Given the description of an element on the screen output the (x, y) to click on. 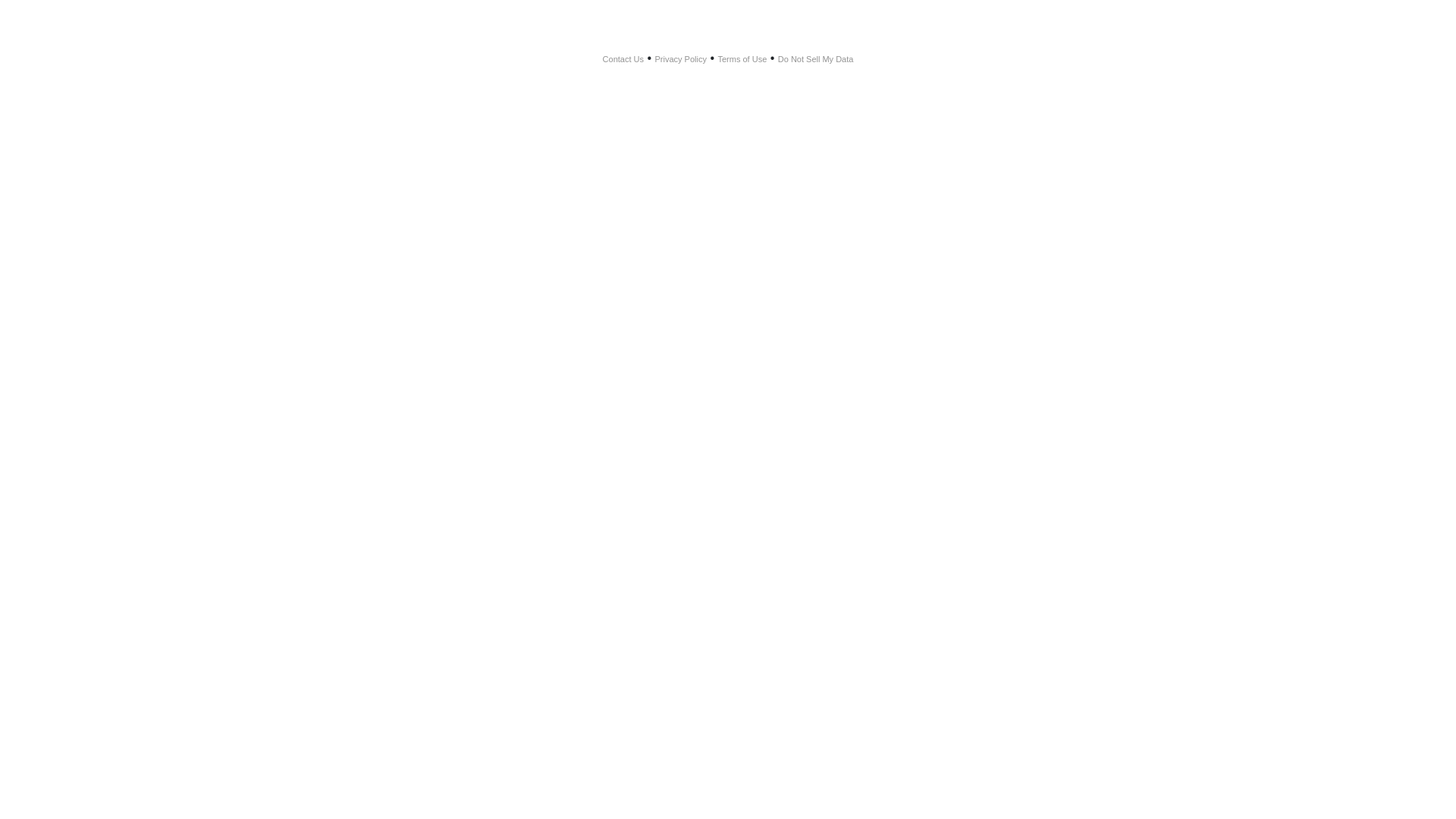
Terms of Use Element type: text (741, 58)
Do Not Sell My Data Element type: text (815, 58)
Contact Us Element type: text (622, 58)
Privacy Policy Element type: text (680, 58)
